Given the description of an element on the screen output the (x, y) to click on. 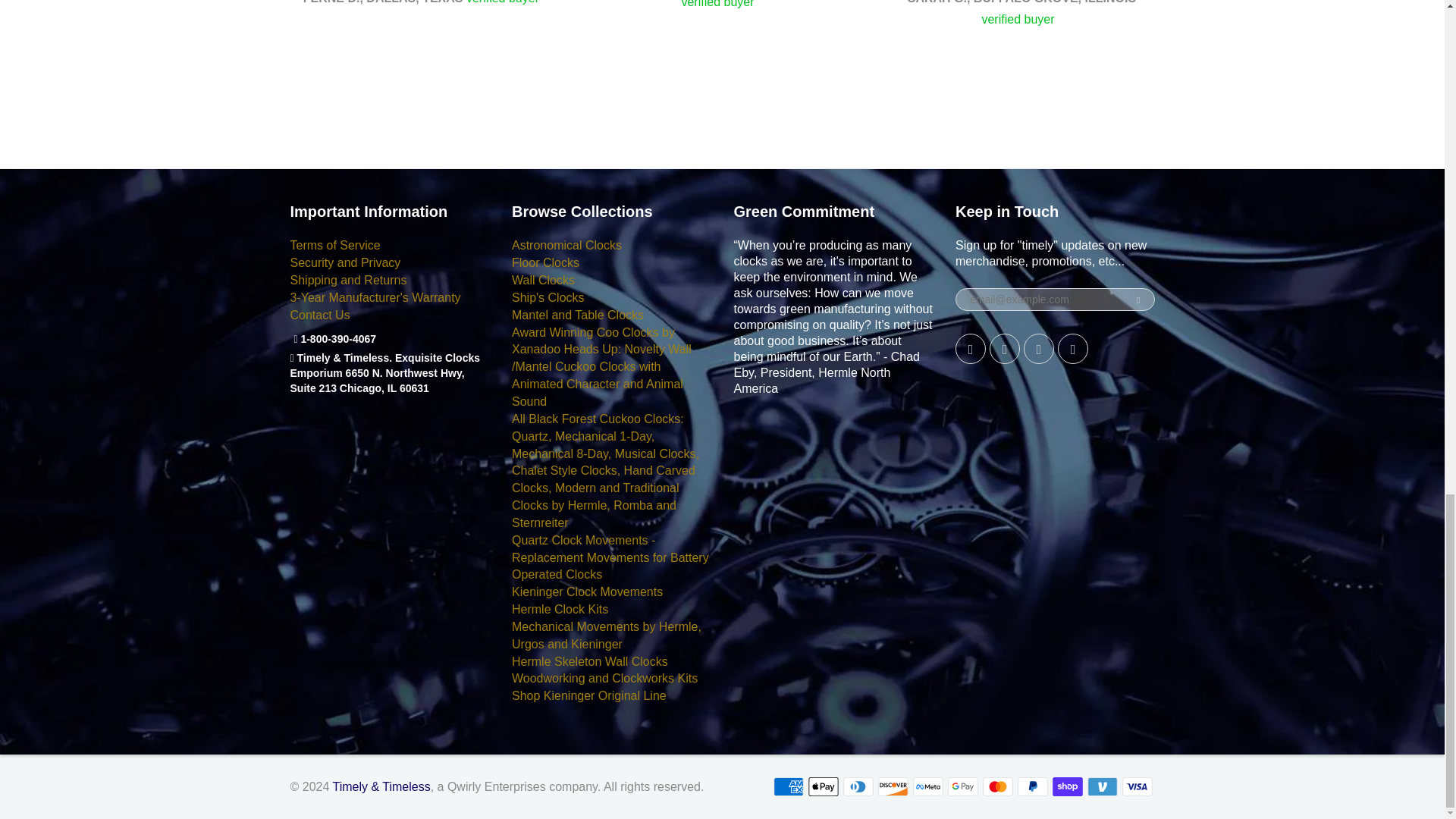
Google Pay (962, 786)
Mastercard (997, 786)
YouTube (1072, 348)
Diners Club (858, 786)
Instagram (1038, 348)
PayPal (1032, 786)
Apple Pay (823, 786)
Venmo (1102, 786)
Visa (1137, 786)
Discover (892, 786)
Pinterest (1005, 348)
Meta Pay (927, 786)
American Express (788, 786)
Shop Pay (1067, 786)
Facebook (970, 348)
